Given the description of an element on the screen output the (x, y) to click on. 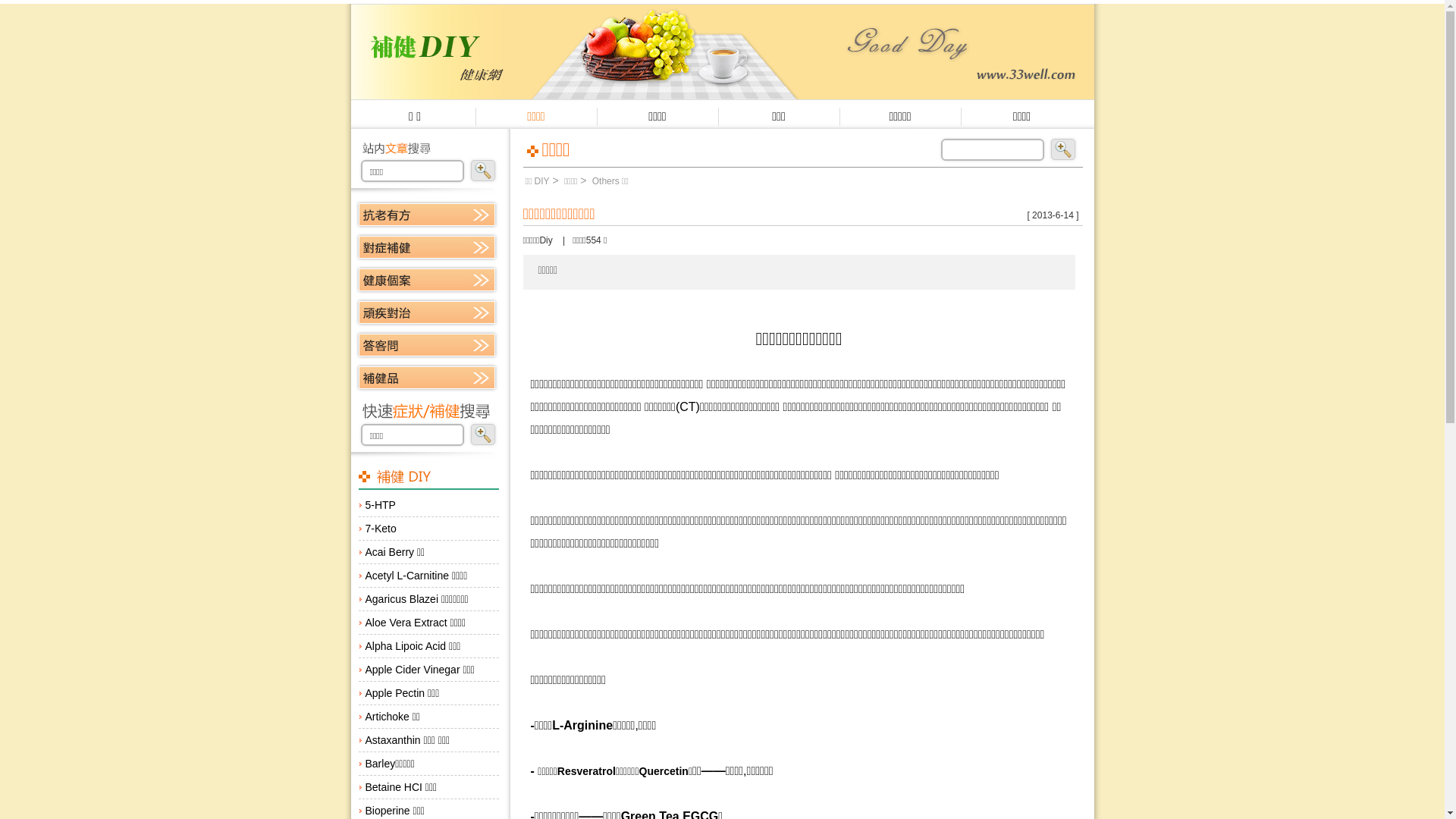
7-Keto Element type: text (427, 528)
5-HTP Element type: text (427, 504)
